Given the description of an element on the screen output the (x, y) to click on. 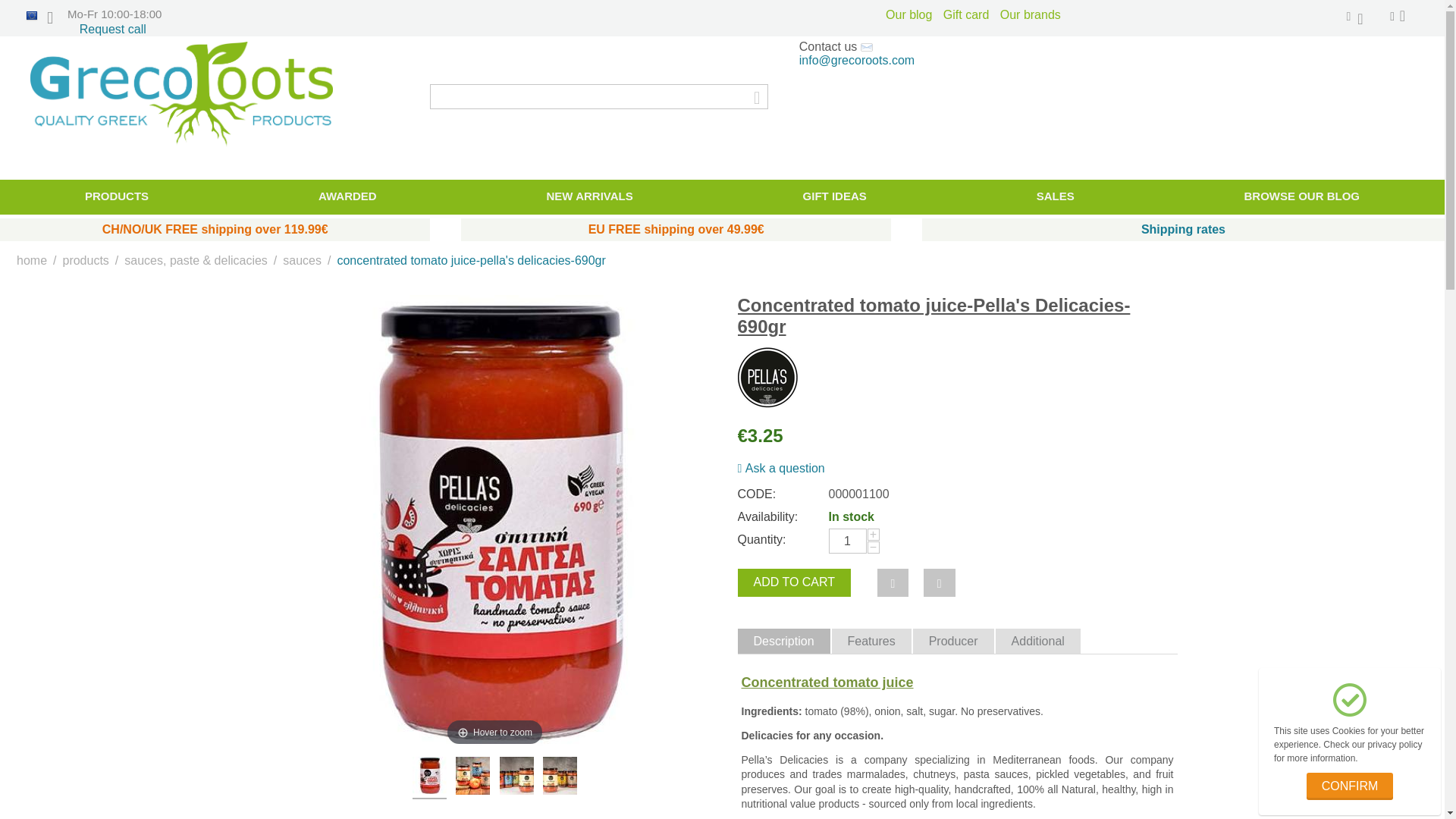
Gift card (967, 14)
PRODUCTS (116, 196)
1 (847, 540)
Request call (113, 29)
Search products (598, 96)
Our brands (1030, 14)
Our blog (910, 14)
